Given the description of an element on the screen output the (x, y) to click on. 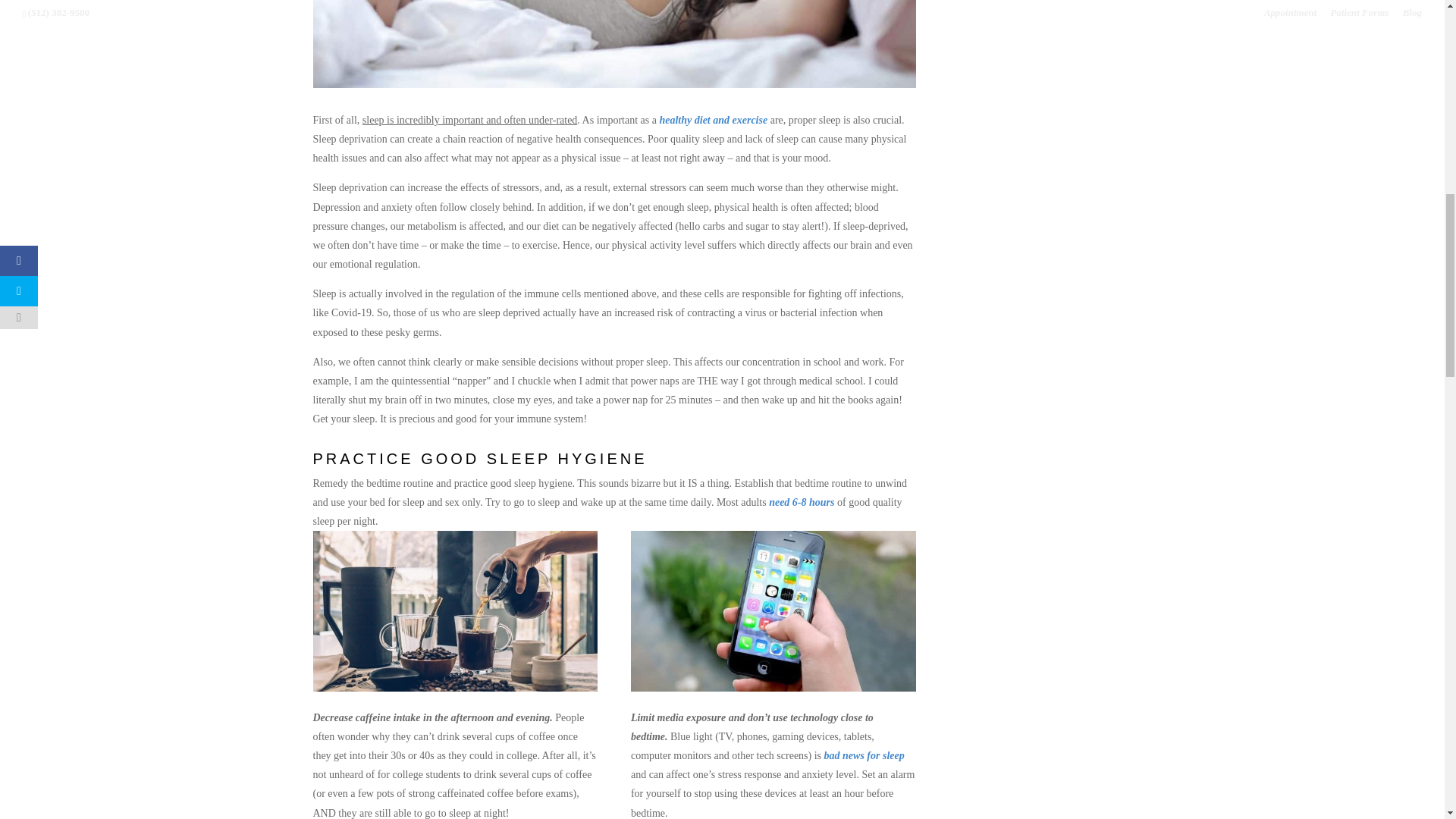
bad news for sleep (864, 755)
healthy diet and exercise (713, 120)
Improve-Your-Immune-System-02 (614, 43)
immune-system-04 (454, 610)
immune-system-03 (772, 610)
need 6-8 hours (801, 501)
